Given the description of an element on the screen output the (x, y) to click on. 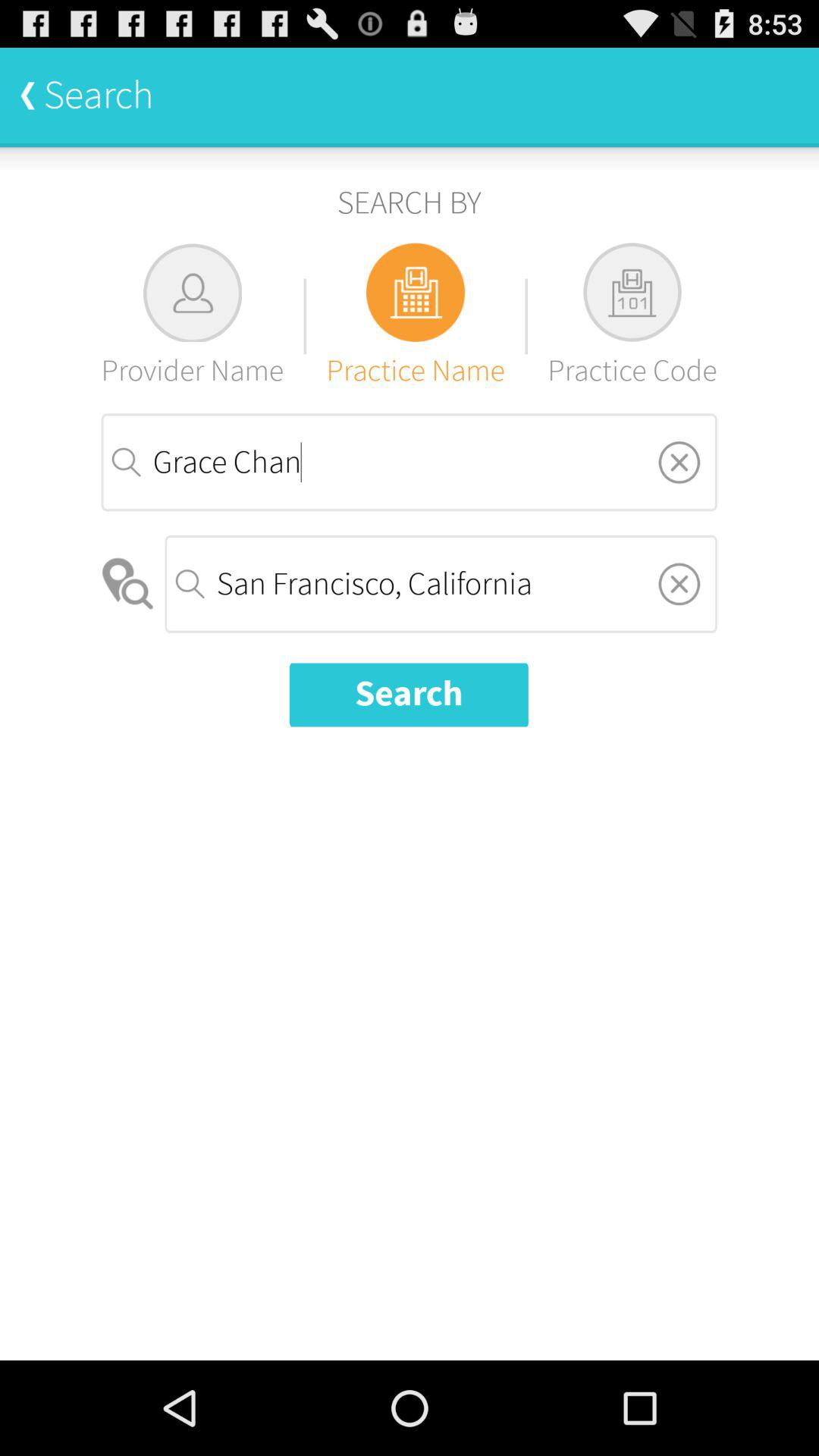
launch practice name icon (415, 315)
